Given the description of an element on the screen output the (x, y) to click on. 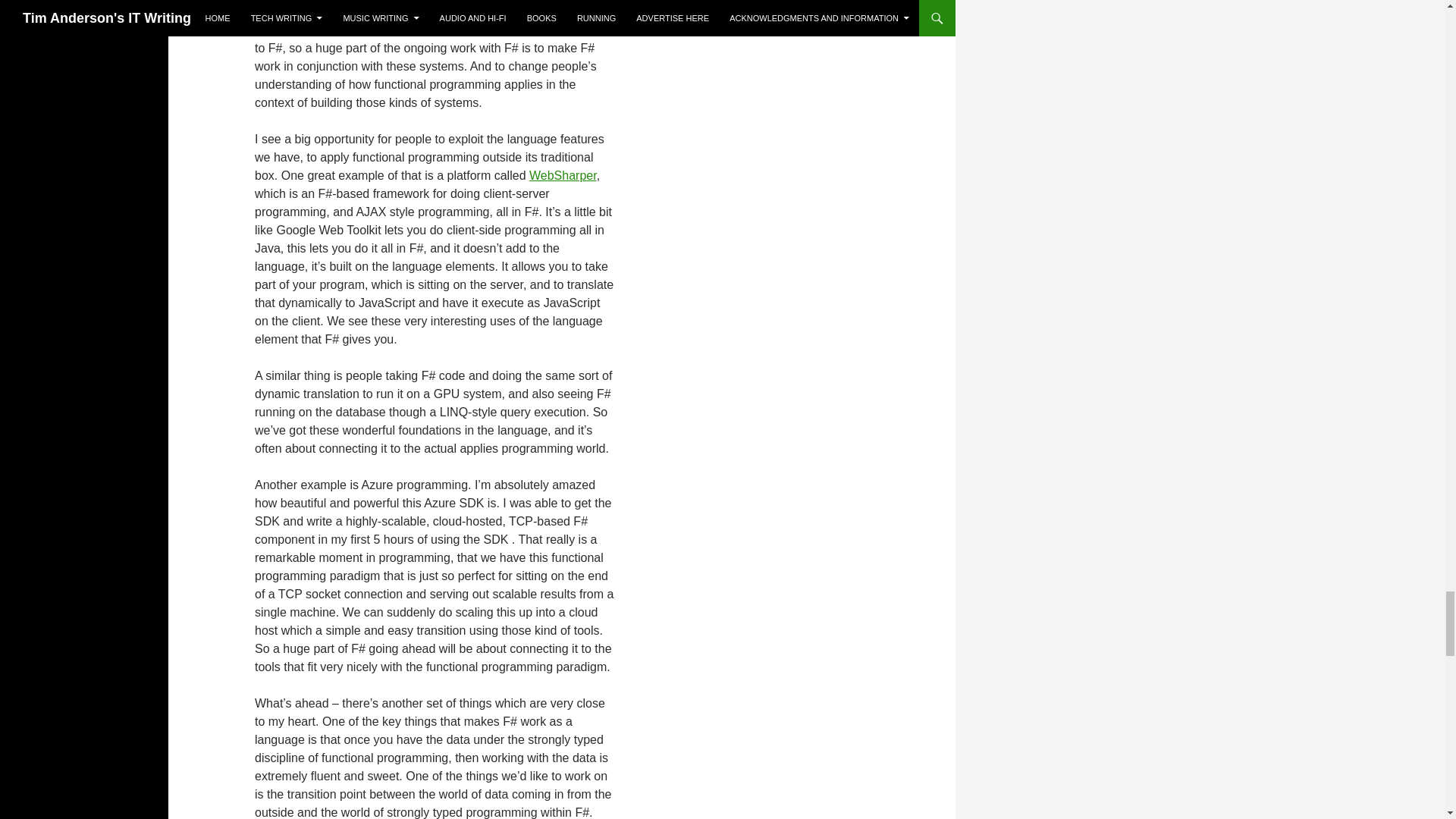
WebSharper (562, 174)
